Given the description of an element on the screen output the (x, y) to click on. 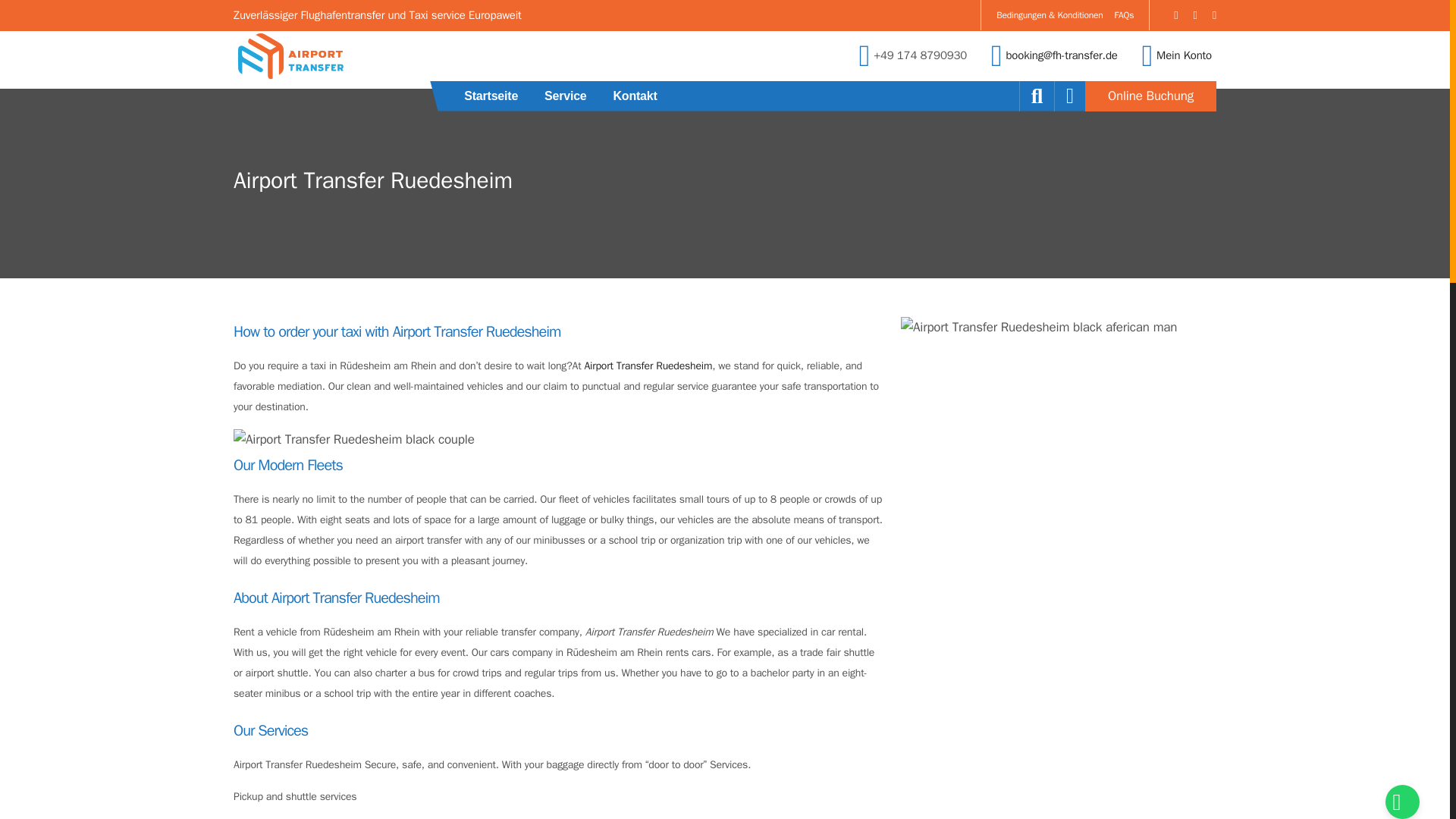
Airport Transfer Ruedesheim (647, 365)
FAQs (1124, 14)
Kontakt (634, 95)
Startseite (491, 95)
Service (565, 95)
Online Buchung (1149, 95)
Mein Konto (1183, 55)
